Given the description of an element on the screen output the (x, y) to click on. 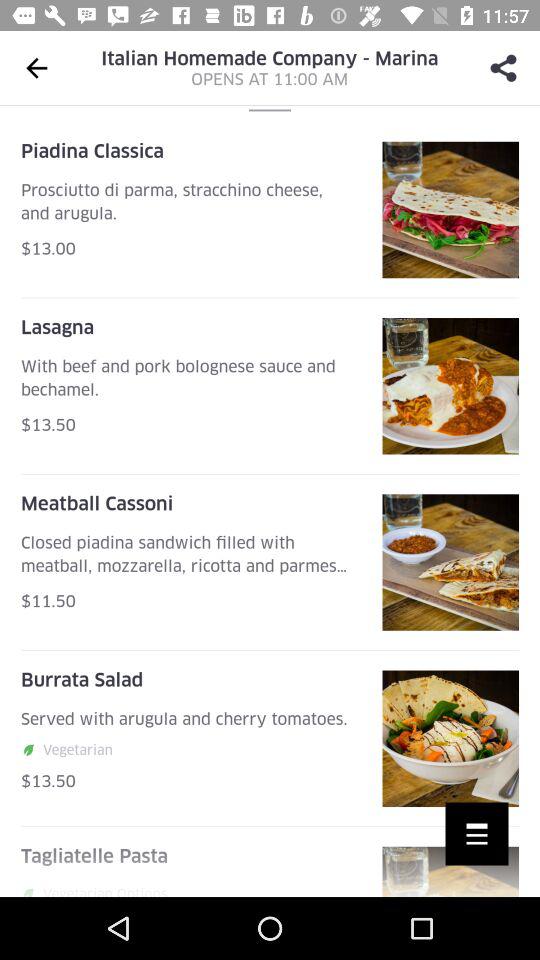
take the image right to burrata salad (450, 739)
select first image from top (450, 210)
